Given the description of an element on the screen output the (x, y) to click on. 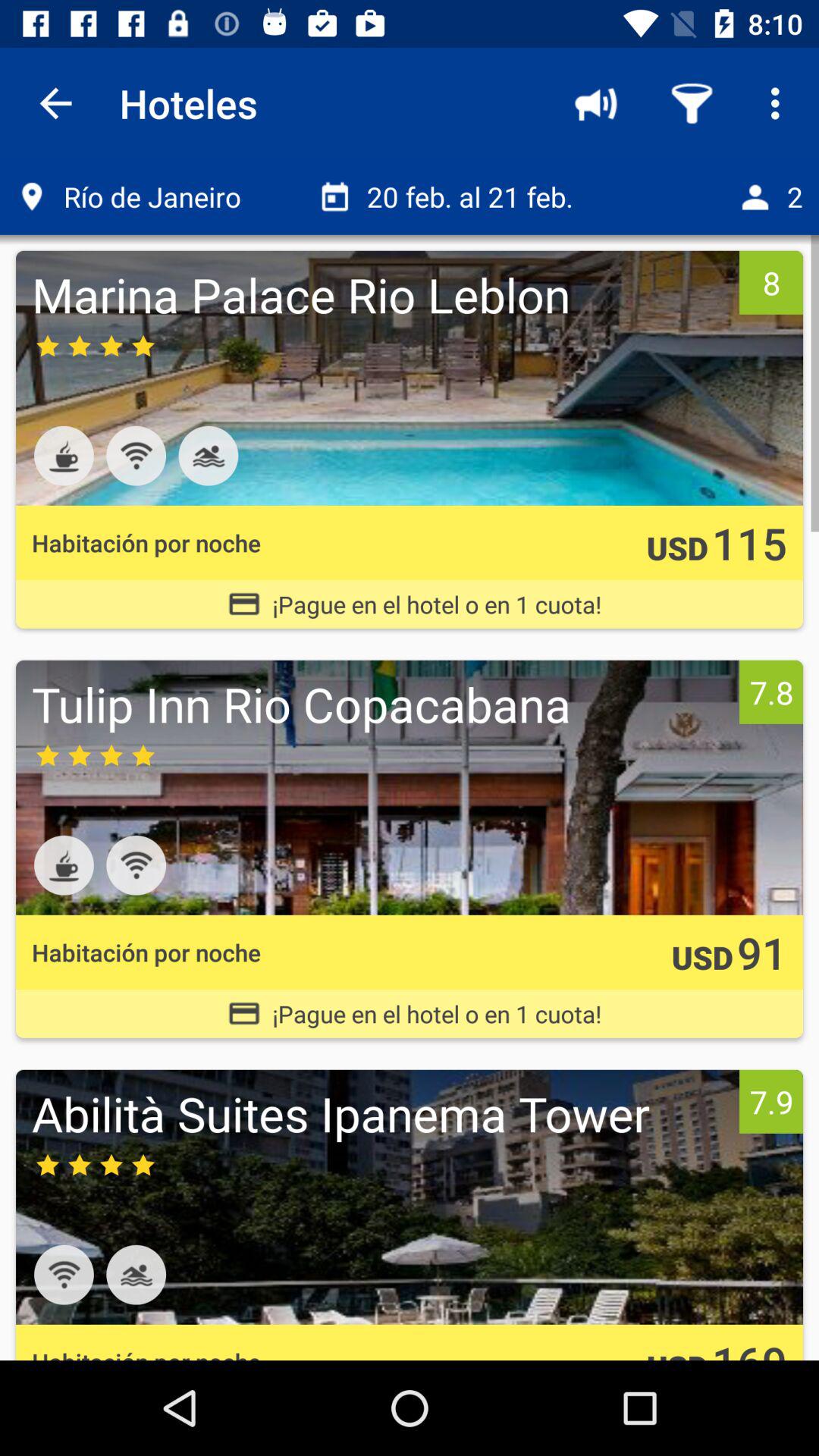
jump until the 169 item (749, 1346)
